Given the description of an element on the screen output the (x, y) to click on. 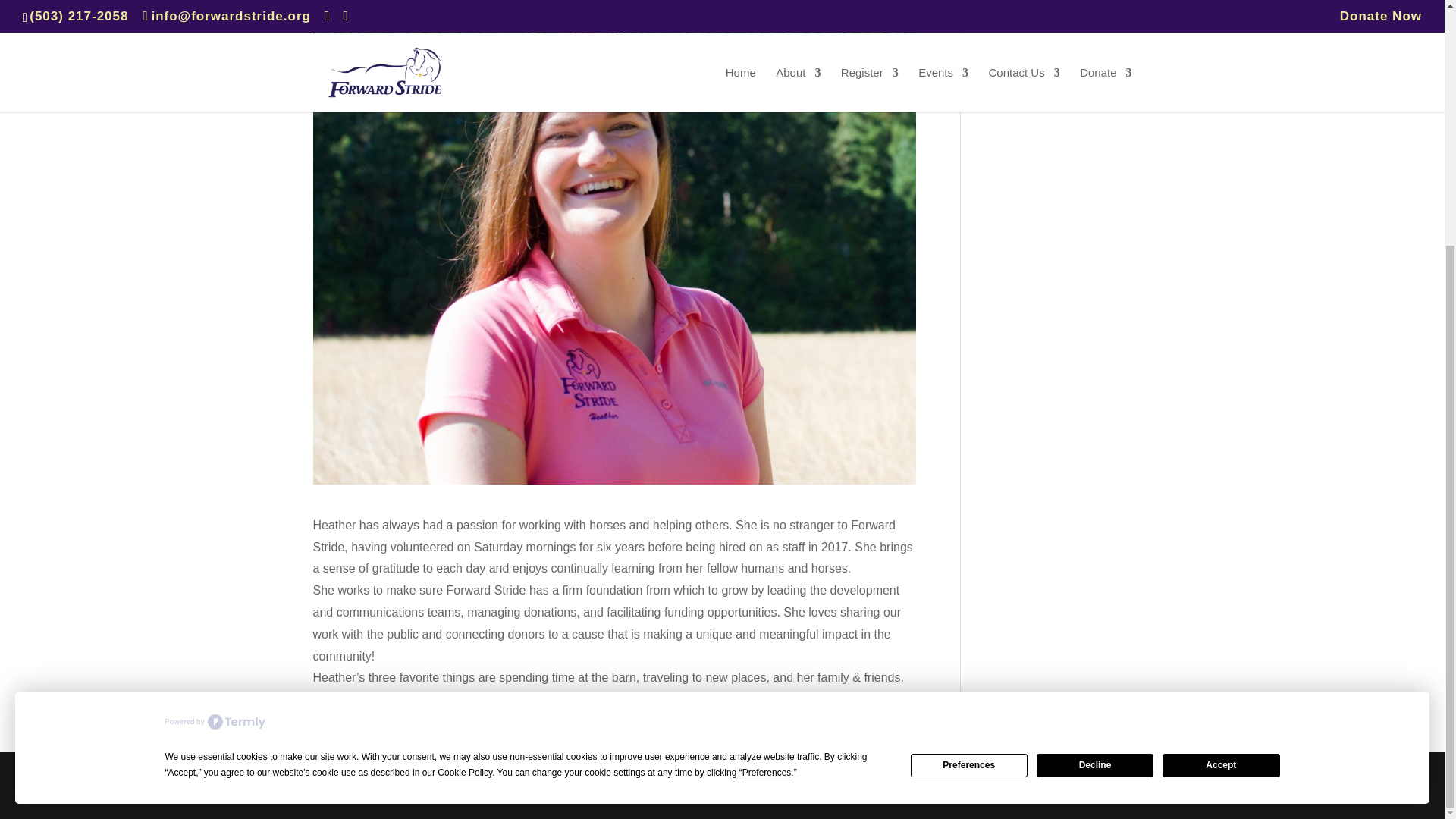
Preferences (969, 422)
Accept (1220, 422)
Decline (1094, 422)
